Given the description of an element on the screen output the (x, y) to click on. 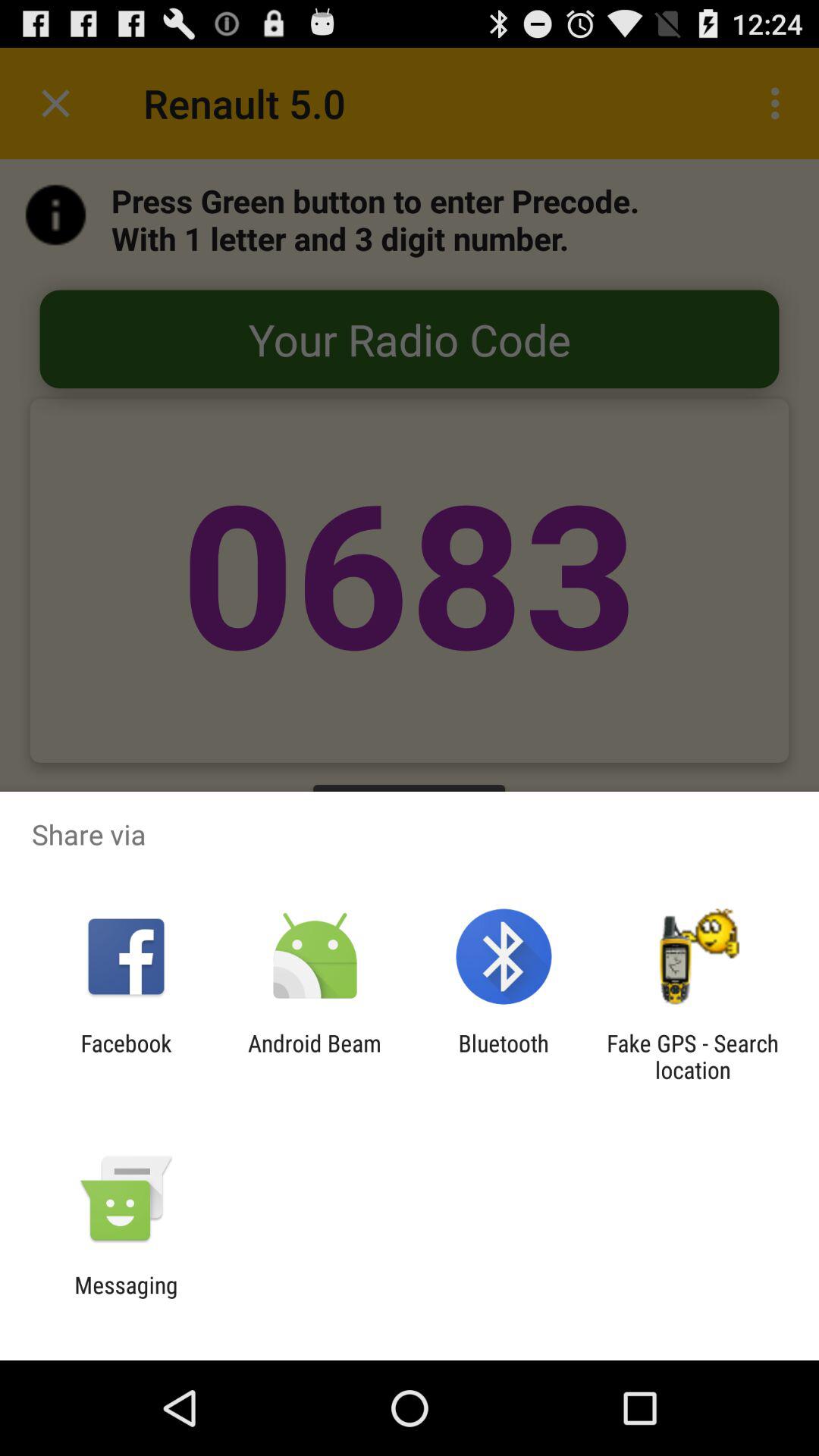
tap the item to the left of fake gps search (503, 1056)
